Given the description of an element on the screen output the (x, y) to click on. 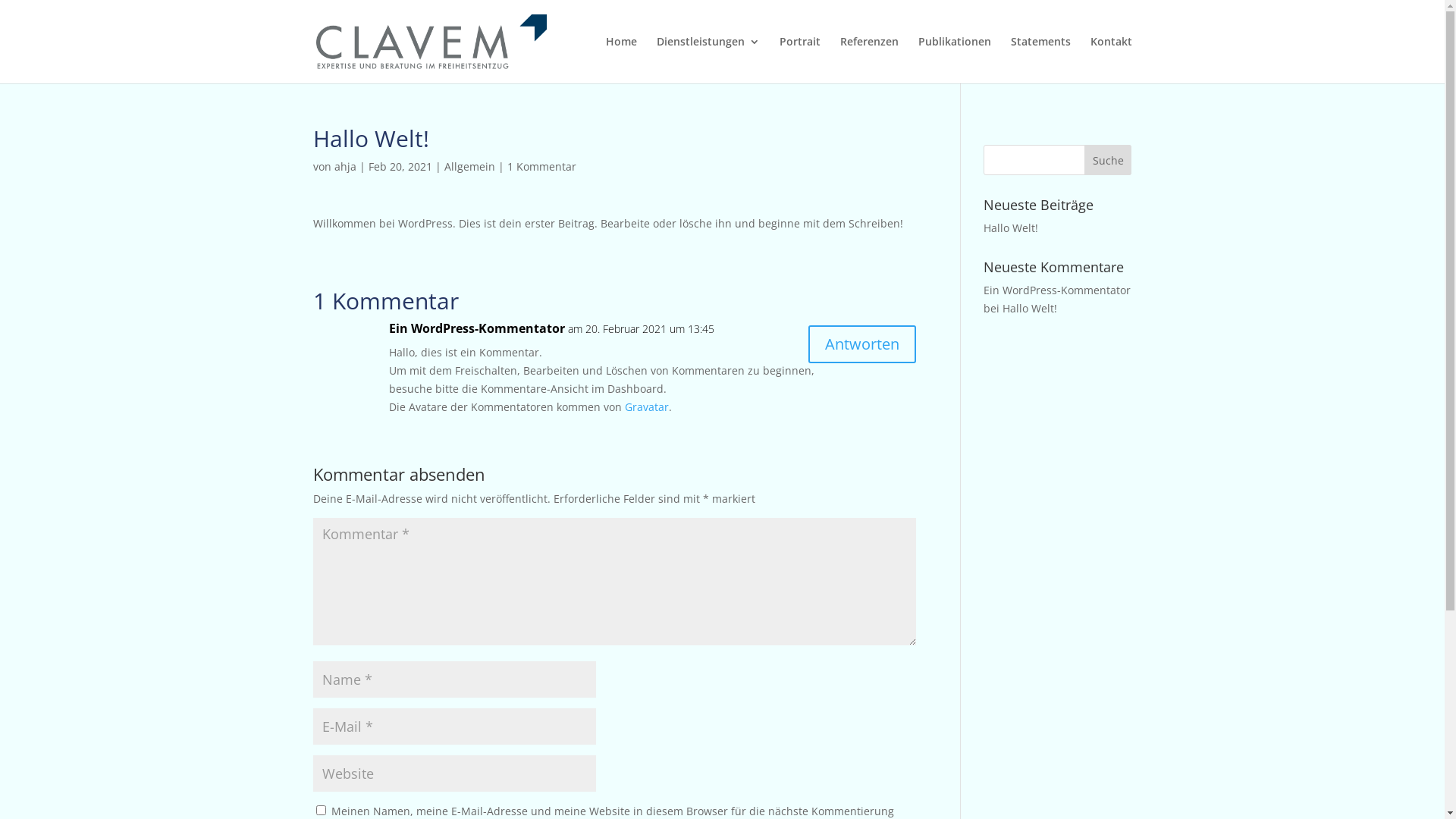
Dienstleistungen Element type: text (707, 59)
1 Kommentar Element type: text (540, 166)
Statements Element type: text (1040, 59)
Referenzen Element type: text (869, 59)
Home Element type: text (620, 59)
Allgemein Element type: text (469, 166)
Hallo Welt! Element type: text (1010, 227)
ahja Element type: text (344, 166)
Publikationen Element type: text (953, 59)
Ein WordPress-Kommentator Element type: text (1056, 289)
Portrait Element type: text (799, 59)
Antworten Element type: text (862, 344)
Ein WordPress-Kommentator Element type: text (476, 329)
Hallo Welt! Element type: text (1029, 308)
Suche Element type: text (1108, 159)
Kontakt Element type: text (1111, 59)
